Given the description of an element on the screen output the (x, y) to click on. 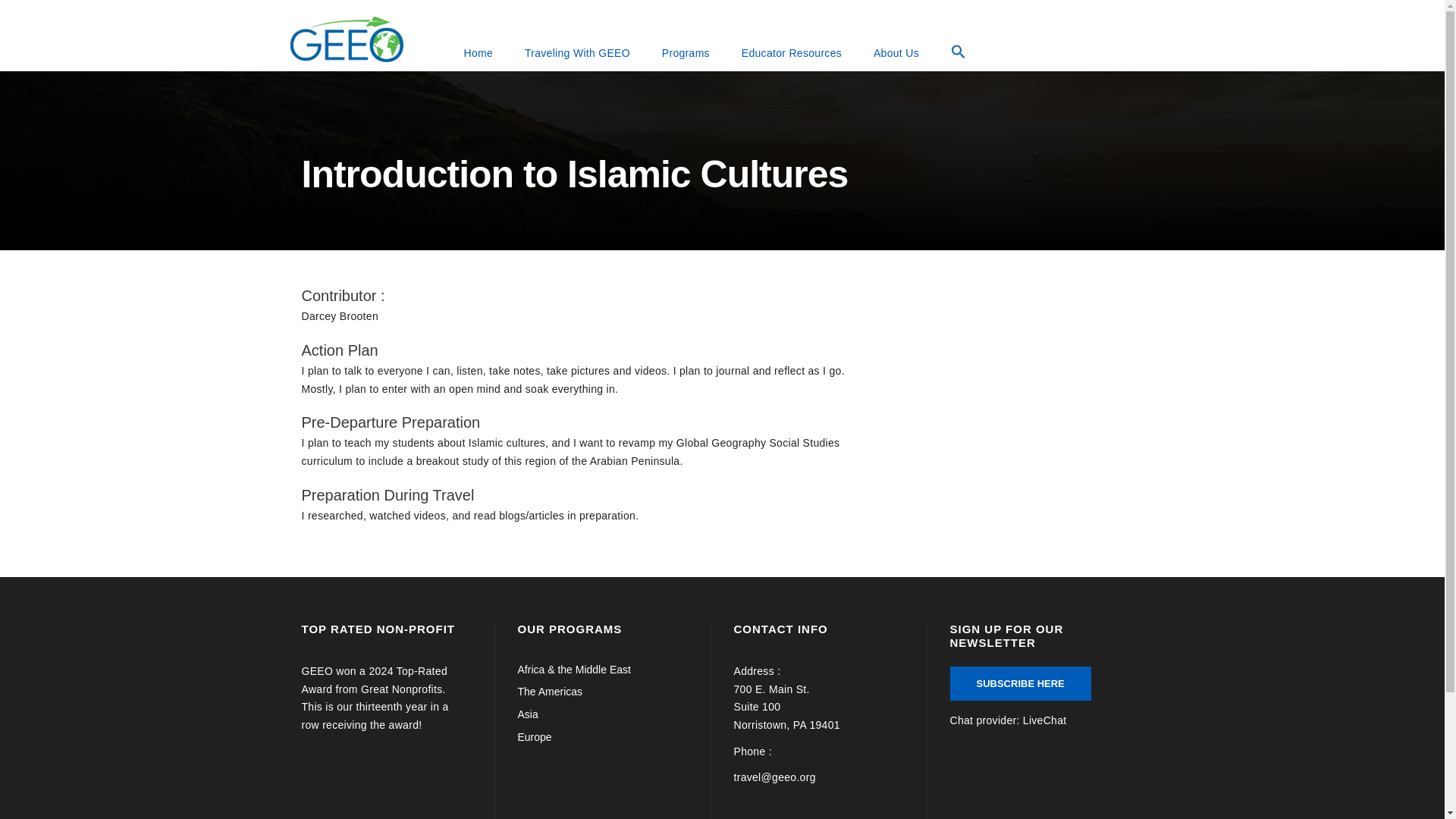
Traveling With GEEO (577, 52)
About Us (896, 52)
Programs (685, 52)
Educator Resources (791, 52)
Home (478, 52)
